Given the description of an element on the screen output the (x, y) to click on. 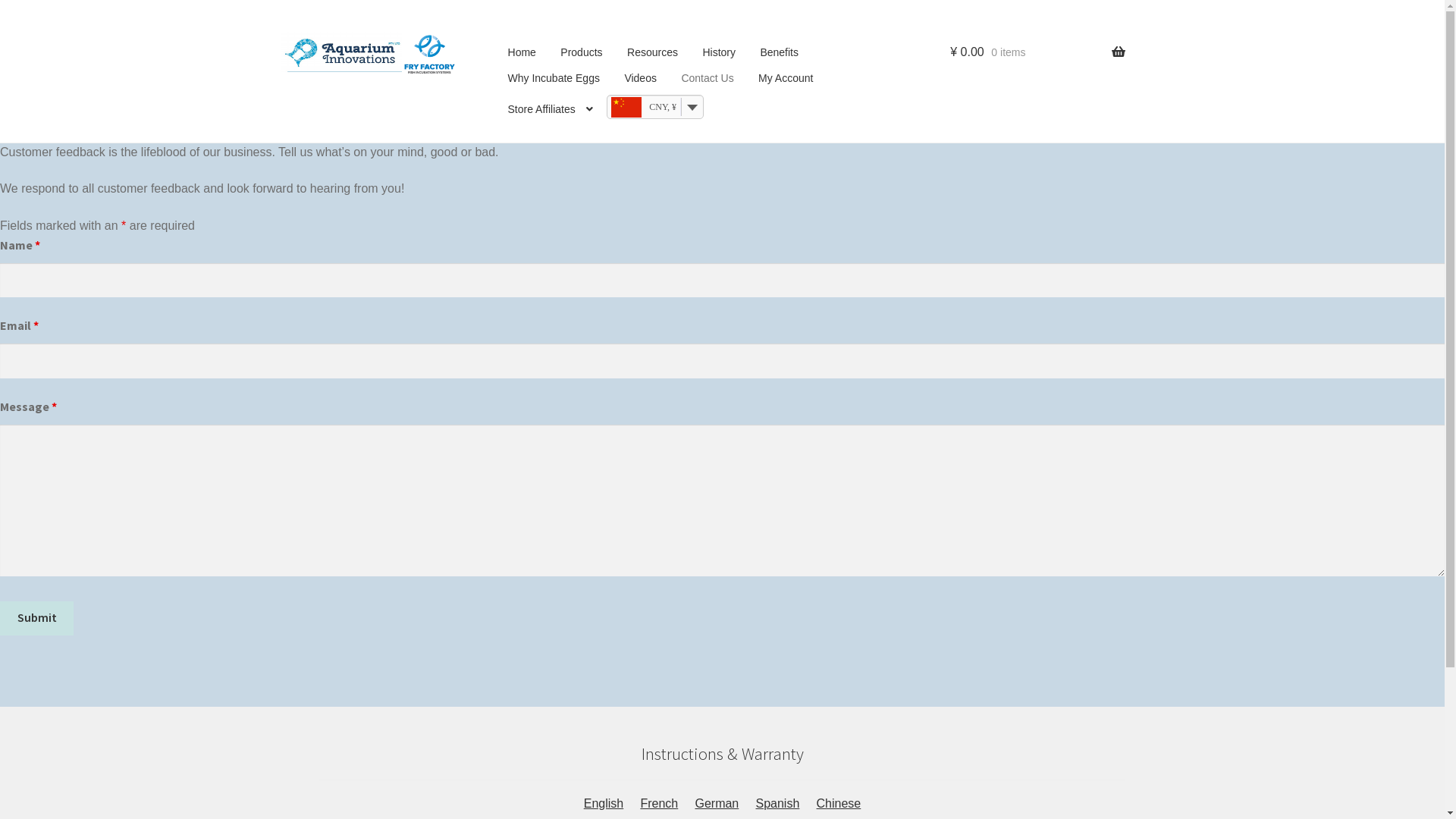
Home Element type: text (521, 56)
Resources Element type: text (652, 56)
French Element type: text (658, 803)
Videos Element type: text (640, 81)
Store Affiliates Element type: text (550, 112)
History Element type: text (718, 56)
Chinese Element type: text (838, 803)
Spanish Element type: text (777, 803)
Search Element type: text (949, 31)
English Element type: text (603, 803)
Products Element type: text (580, 56)
Contact Us Element type: text (706, 81)
Submit Element type: text (36, 617)
My Account Element type: text (785, 81)
Skip to navigation Element type: text (318, 31)
German Element type: text (716, 803)
Benefits Element type: text (779, 56)
Why Incubate Eggs Element type: text (553, 81)
